Given the description of an element on the screen output the (x, y) to click on. 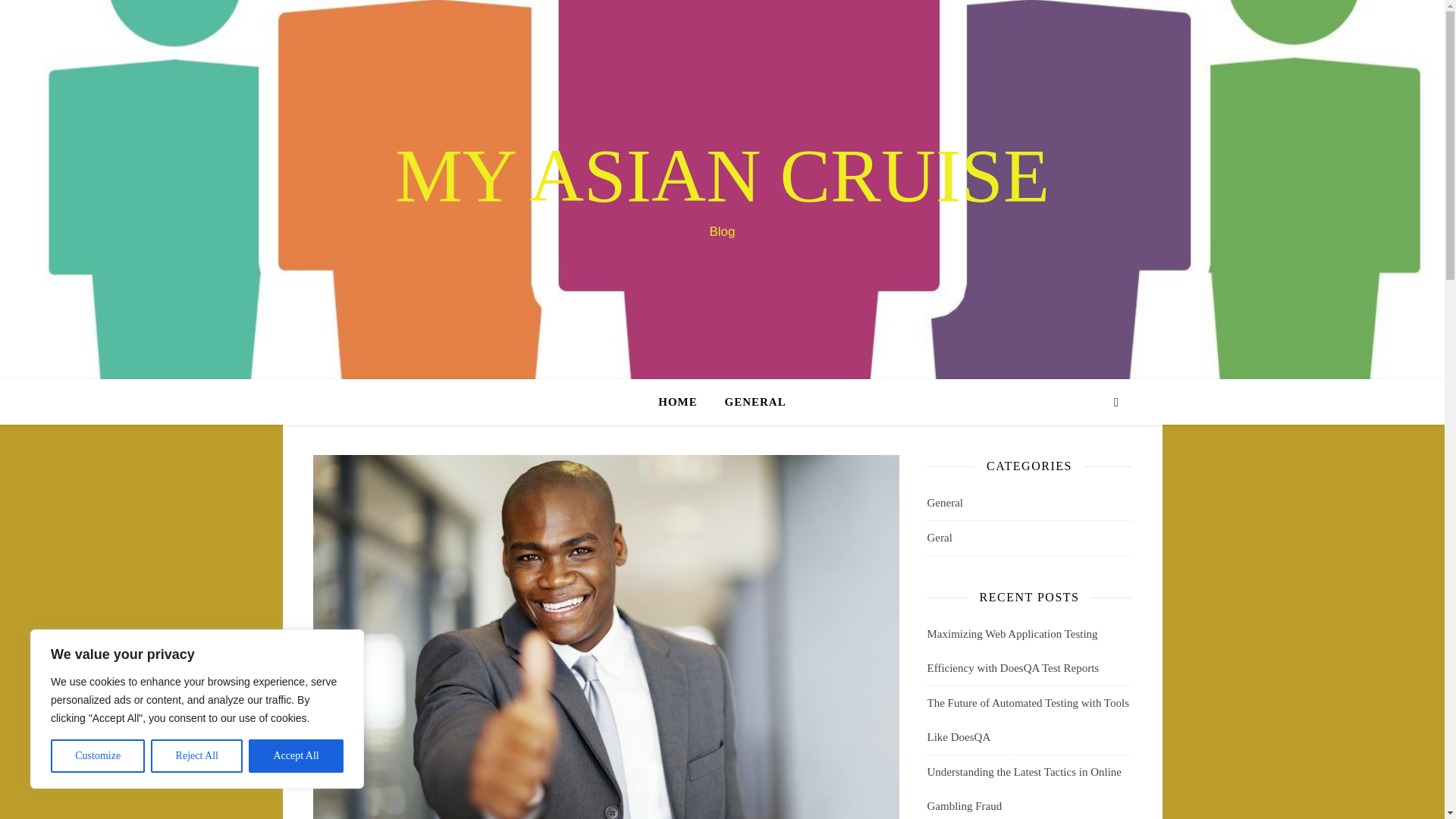
Geral (939, 537)
Understanding the Latest Tactics in Online Gambling Fraud (1023, 788)
Accept All (295, 756)
Customize (97, 756)
HOME (684, 402)
GENERAL (749, 402)
Reject All (197, 756)
General (944, 503)
The Future of Automated Testing with Tools Like DoesQA (1027, 719)
